Given the description of an element on the screen output the (x, y) to click on. 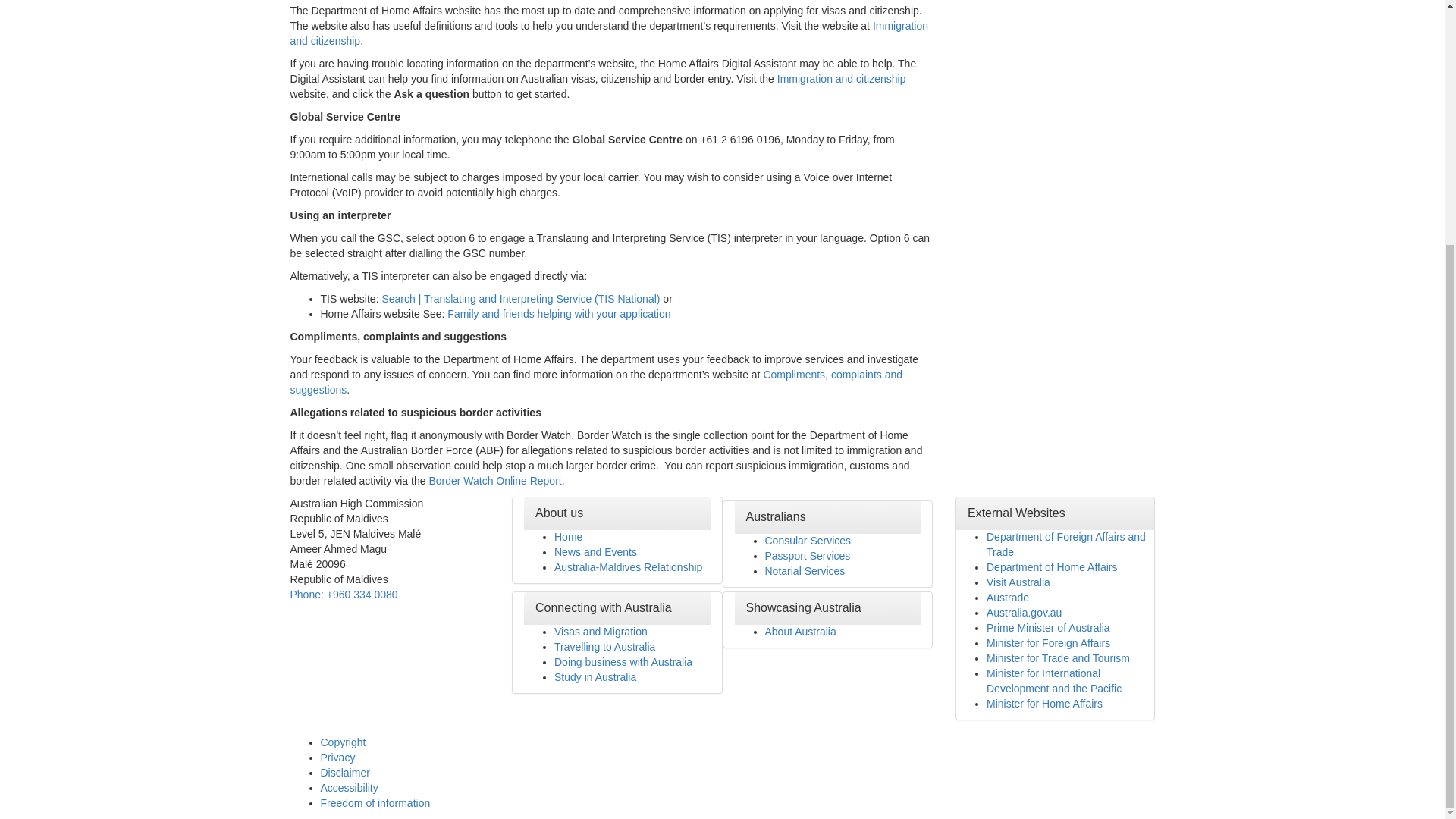
About us (559, 512)
Passport Services (807, 555)
Notarial Services (804, 571)
Family and friends helping with your application (557, 313)
Home (568, 536)
Consular Services (807, 540)
News and Events (595, 551)
Border Watch Online Report (494, 480)
Australia-Maldives Relationship (627, 567)
Compliments, complaints and suggestions (595, 381)
Visas and Migration (600, 631)
Immigration and citizenship (841, 78)
Travelling to Australia (604, 646)
Immigration and citizenship (608, 32)
Connecting with Australia (603, 607)
